Given the description of an element on the screen output the (x, y) to click on. 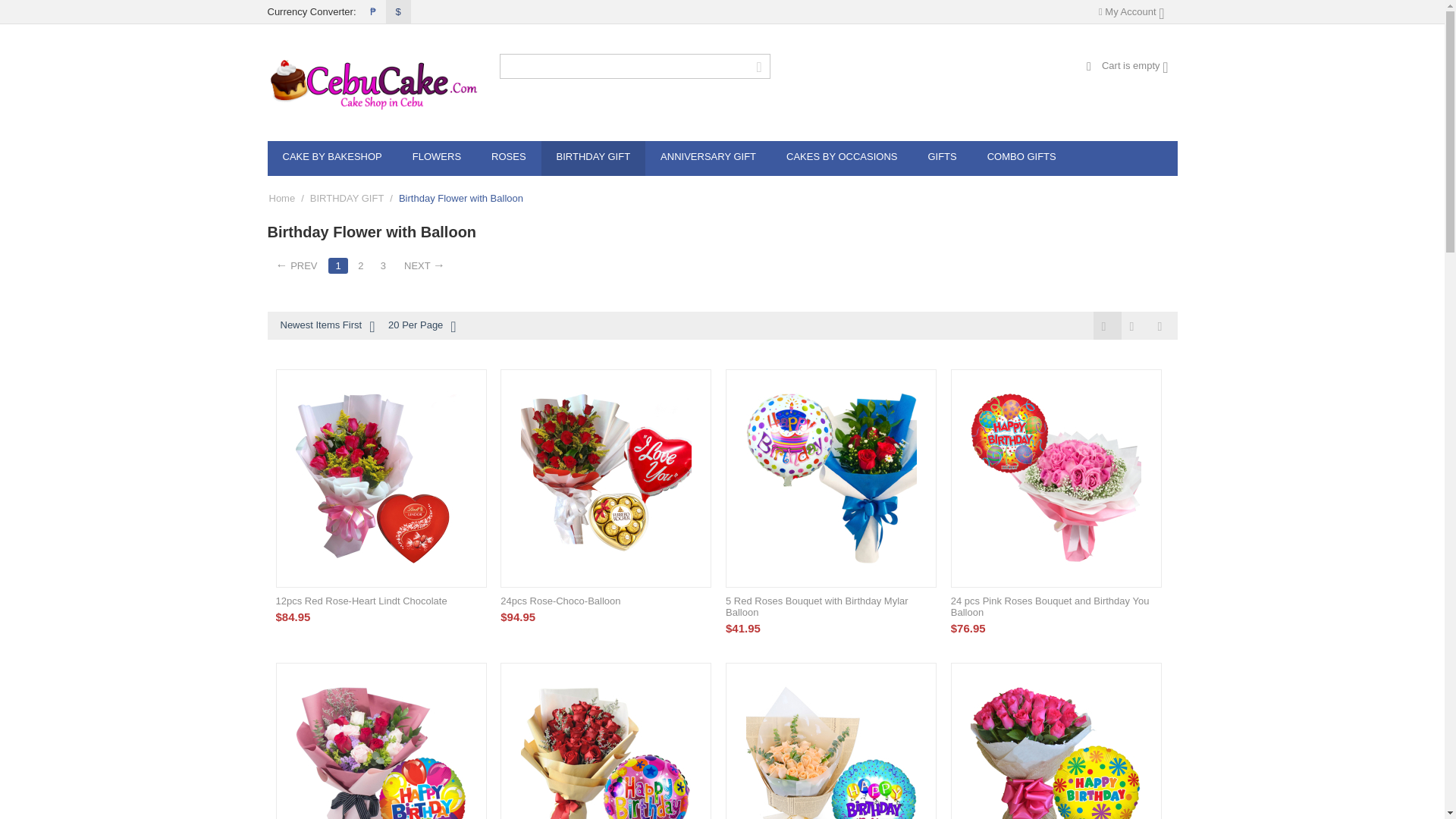
24 pcs Pink Roses Bouquet and Birthday You Balloon (1056, 478)
send flower with chocolate to cebu (380, 478)
CAKE BY BAKESHOP (331, 158)
FLOWERS (436, 158)
24 Red Roses Bouquet with Birthday Mylar Balloon (606, 748)
5 Red Roses Bouquet with Birthday Mylar Balloon (831, 478)
BIRTHDAY GIFT (593, 158)
Cart is empty (1127, 65)
Search products (634, 66)
12 Pcs. Mixed Roses with Birthday Mylar Balloon (380, 748)
